Given the description of an element on the screen output the (x, y) to click on. 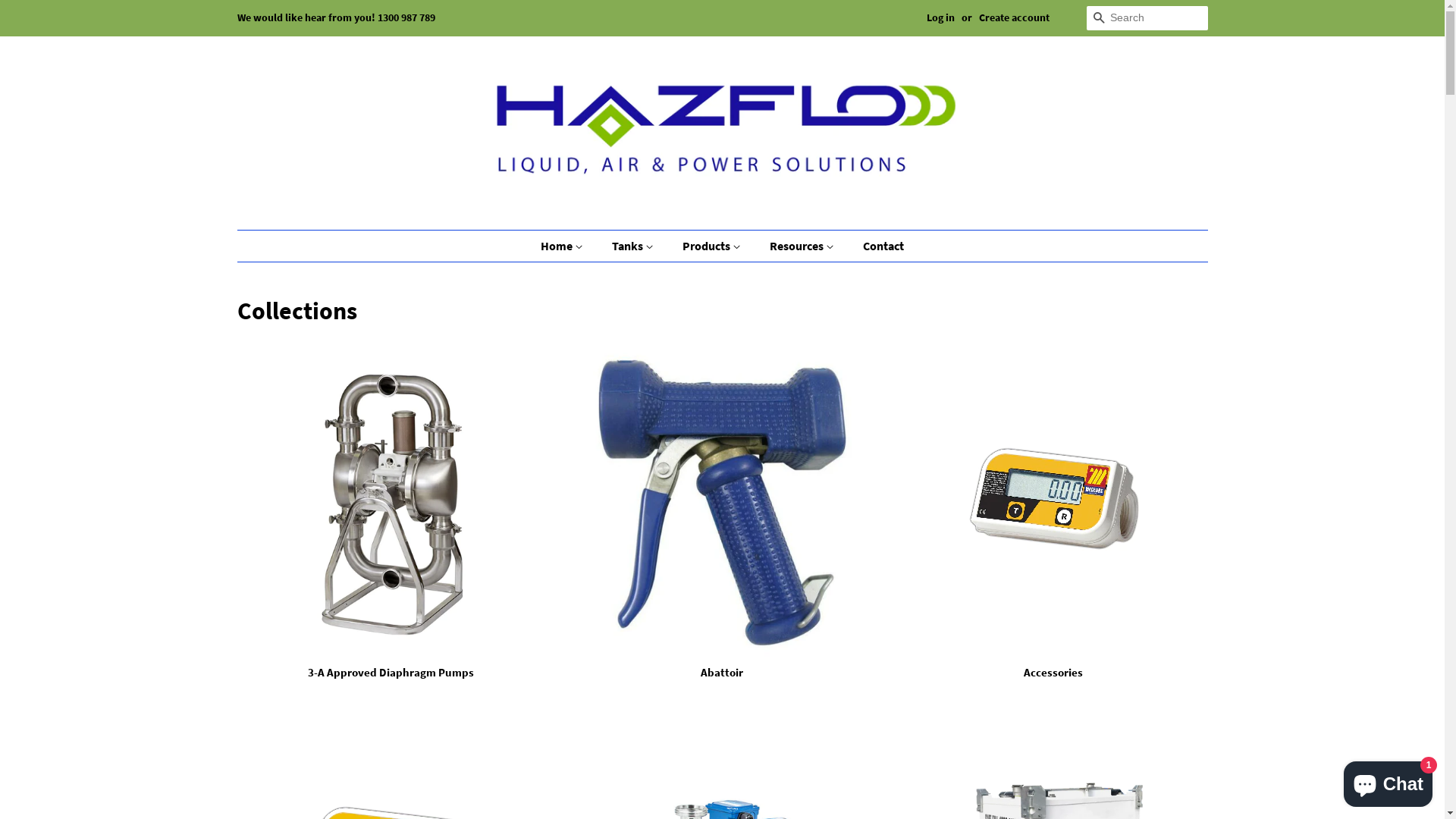
Log in Element type: text (940, 17)
Create account Element type: text (1013, 17)
We would like hear from you! 1300 987 789 Element type: text (335, 17)
Contact Element type: text (877, 245)
Search Element type: text (1097, 18)
Shopify online store chat Element type: hover (1388, 780)
Abattoir Element type: text (721, 527)
Tanks Element type: text (634, 245)
Accessories Element type: text (1053, 527)
Resources Element type: text (803, 245)
3-A Approved Diaphragm Pumps Element type: text (390, 527)
Home Element type: text (569, 245)
Products Element type: text (713, 245)
